Given the description of an element on the screen output the (x, y) to click on. 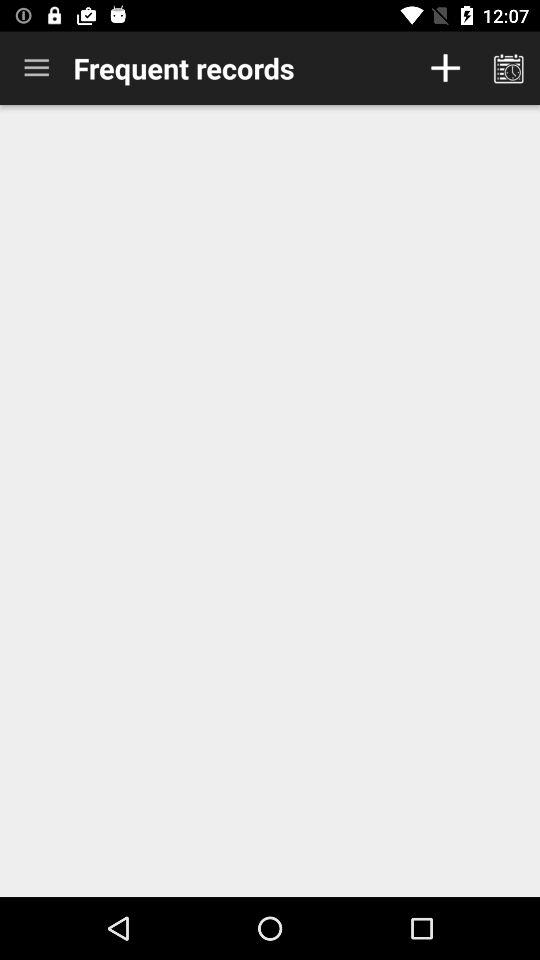
select item to the left of the frequent records item (36, 68)
